Given the description of an element on the screen output the (x, y) to click on. 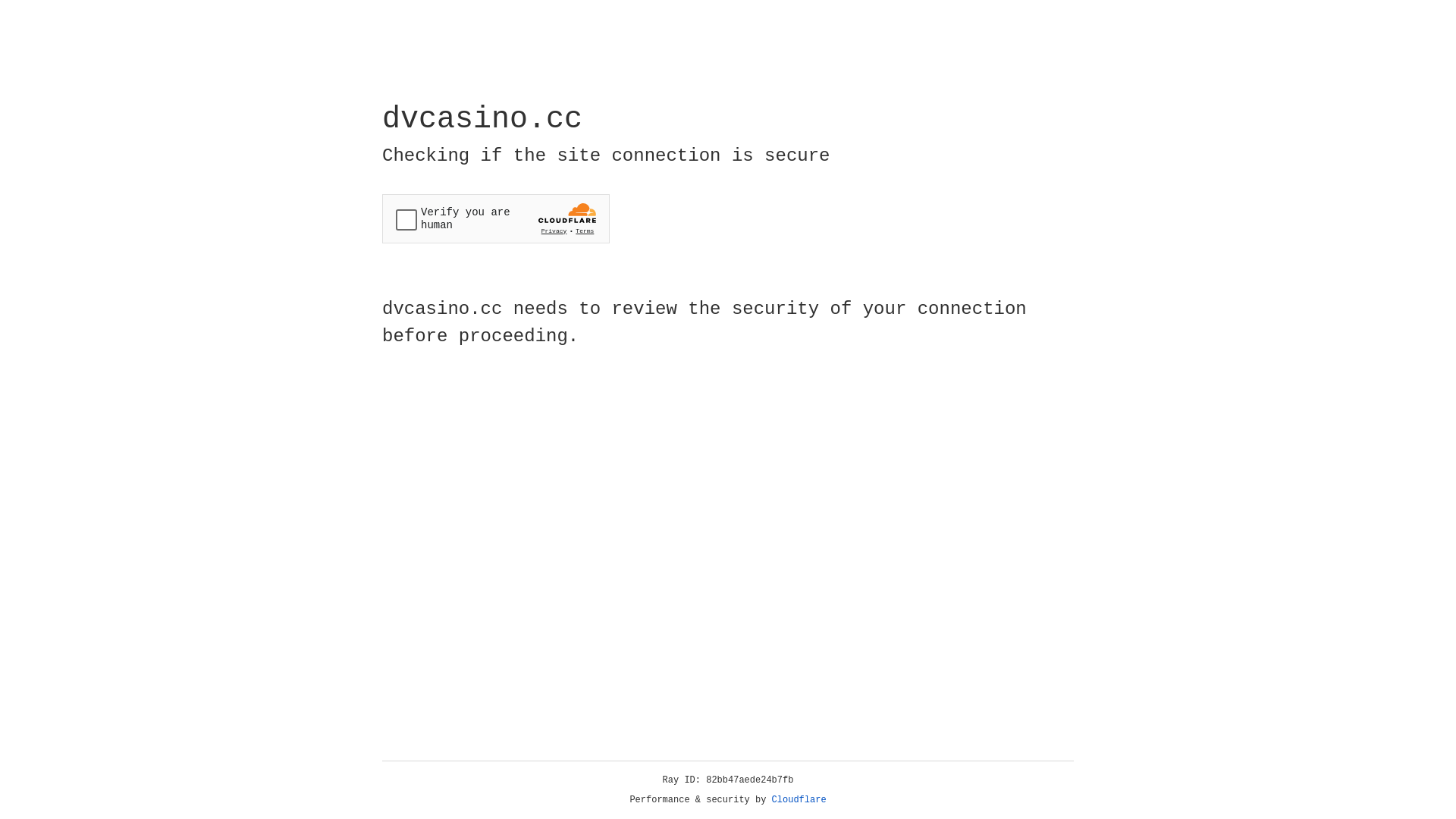
Widget containing a Cloudflare security challenge Element type: hover (495, 218)
Cloudflare Element type: text (798, 799)
